Given the description of an element on the screen output the (x, y) to click on. 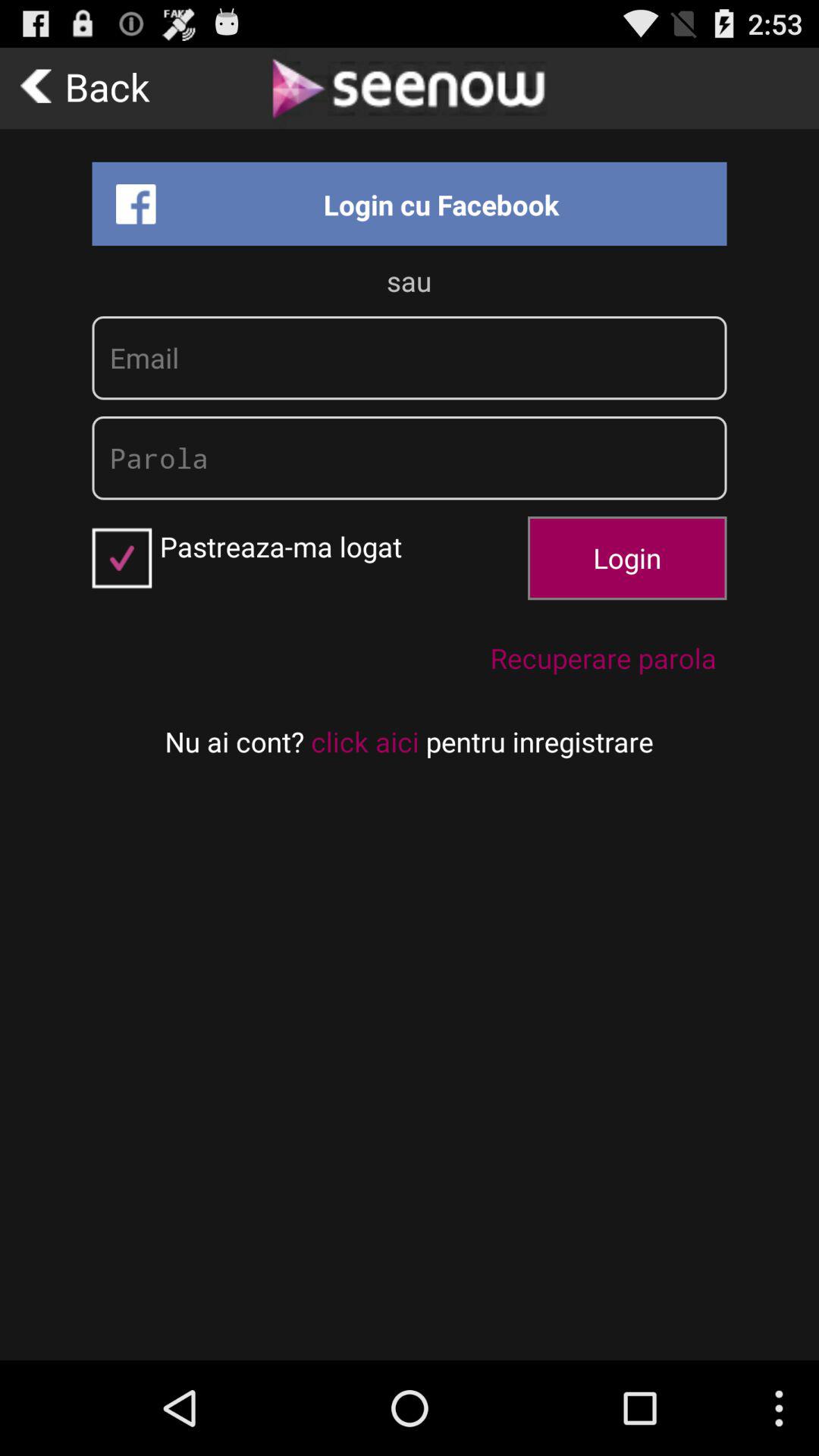
insert email (409, 357)
